Given the description of an element on the screen output the (x, y) to click on. 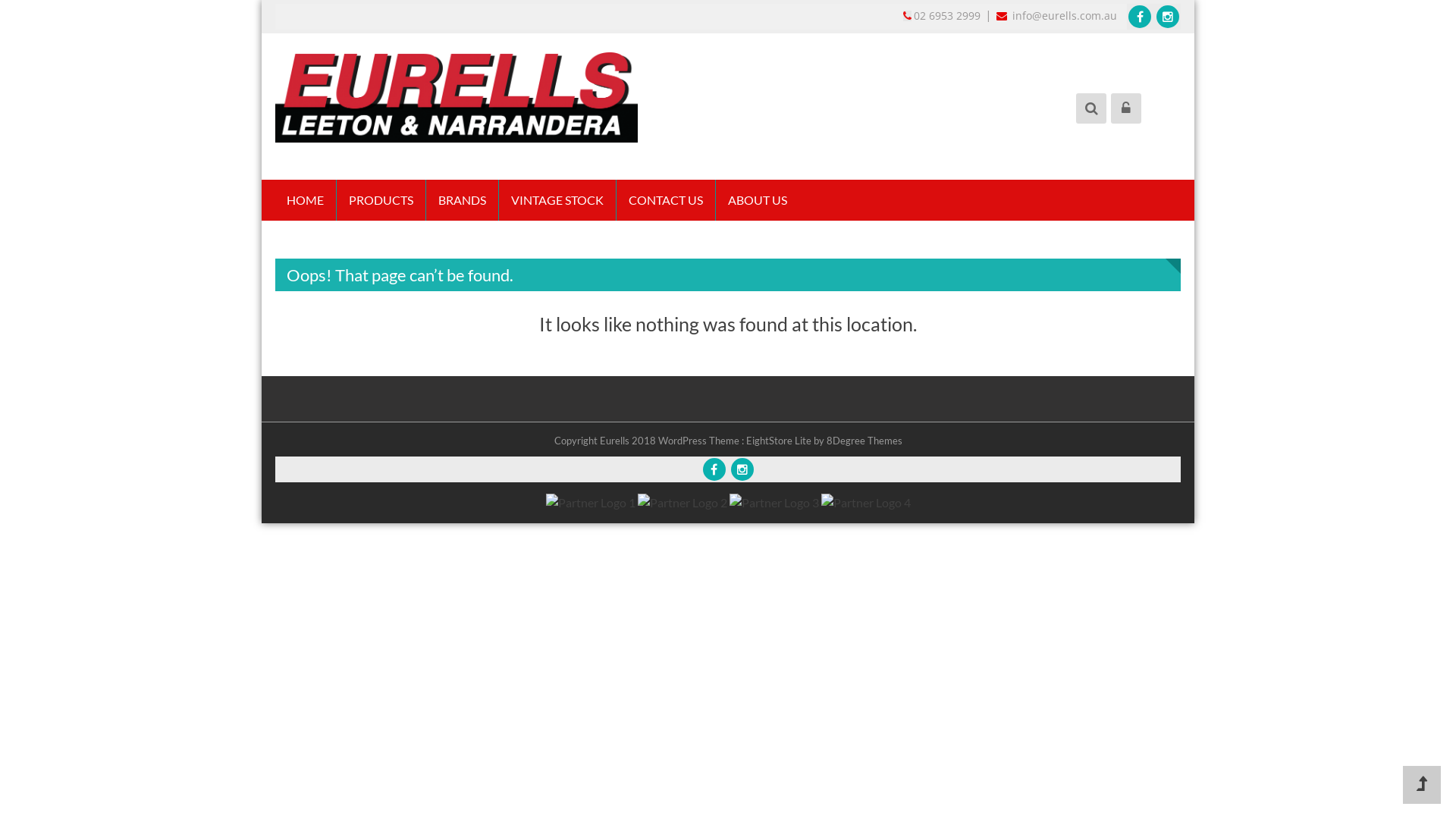
EURELLS Element type: text (318, 171)
CONTACT US Element type: text (665, 199)
EightStore Lite Element type: text (779, 440)
PRODUCTS Element type: text (380, 199)
ABOUT US Element type: text (757, 199)
info@eurells.com.au Element type: text (1054, 15)
HOME Element type: text (305, 199)
VINTAGE STOCK Element type: text (557, 199)
BRANDS Element type: text (461, 199)
02 6953 2999 Element type: text (943, 15)
